Given the description of an element on the screen output the (x, y) to click on. 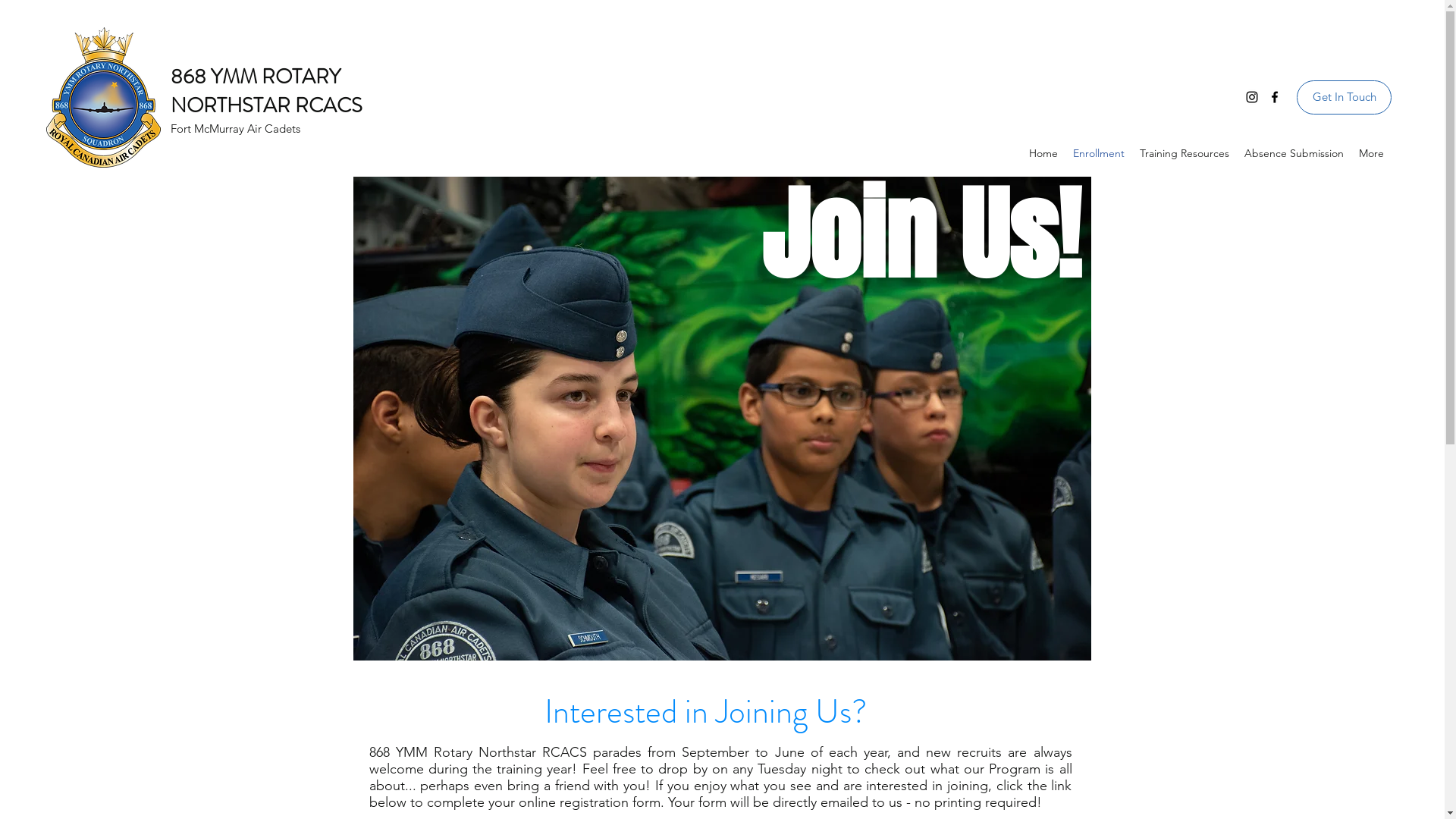
Enrollment Element type: text (1098, 153)
Training Resources Element type: text (1184, 153)
Home Element type: text (1043, 153)
868 YMM ROTARY NORTHSTAR RCACS Element type: text (266, 90)
Absence Submission Element type: text (1293, 153)
Get In Touch Element type: text (1343, 97)
